Given the description of an element on the screen output the (x, y) to click on. 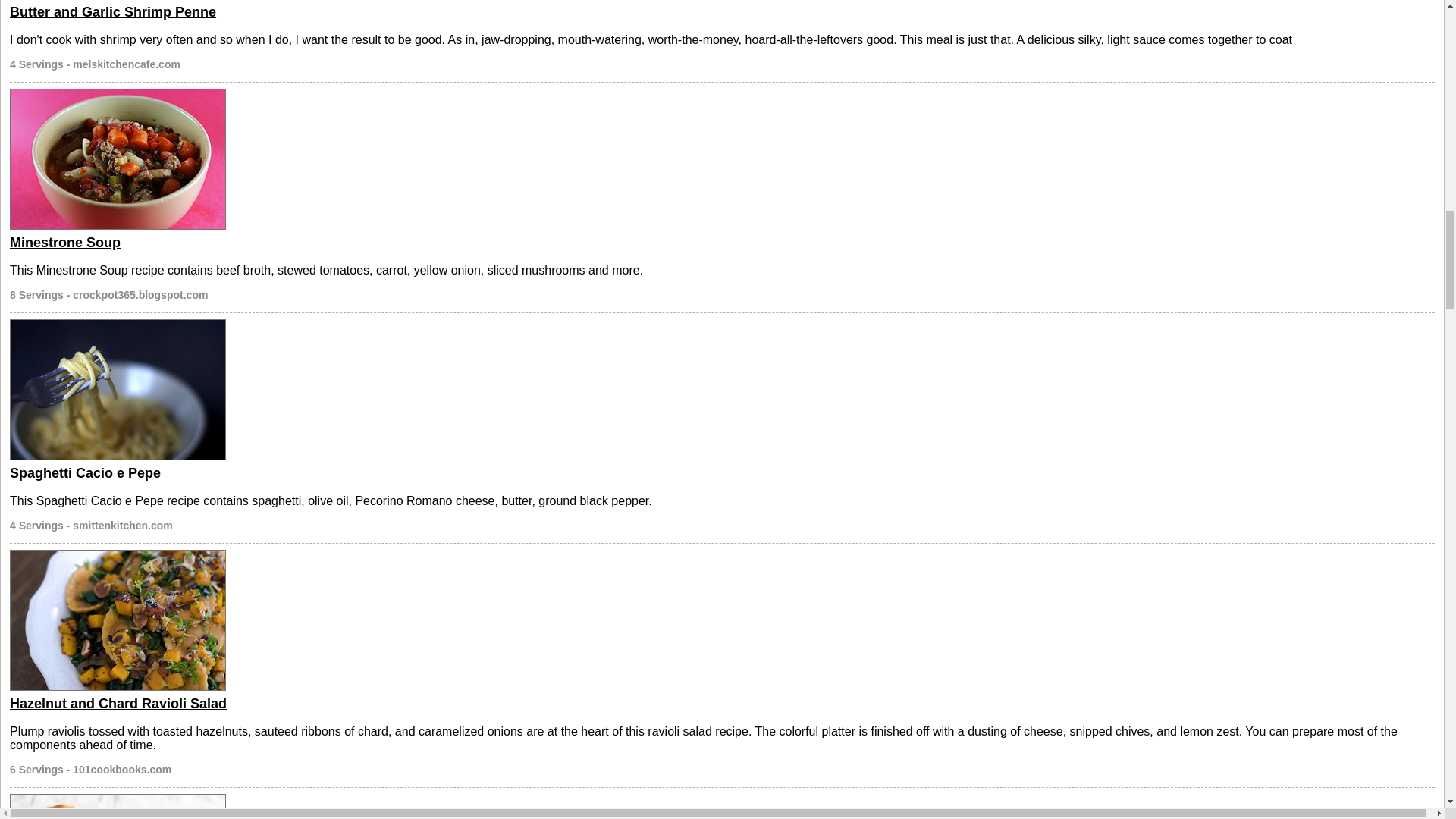
Hazelnut and Chard Ravioli Salad (118, 703)
Butter and Garlic Shrimp Penne (112, 11)
Minestrone Soup (65, 242)
Spaghetti Cacio e Pepe (85, 473)
